Given the description of an element on the screen output the (x, y) to click on. 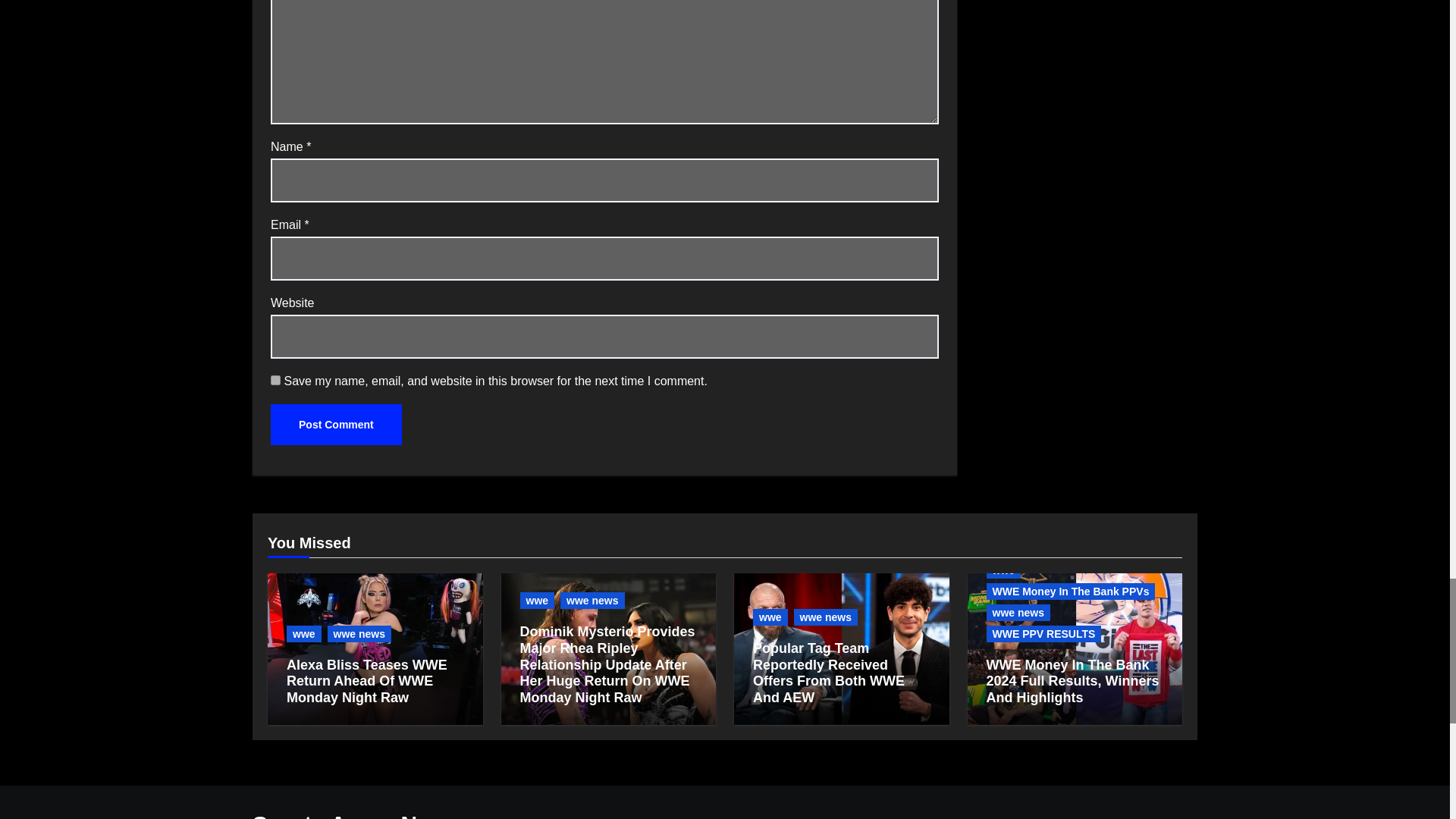
Post Comment (335, 424)
yes (275, 379)
